Given the description of an element on the screen output the (x, y) to click on. 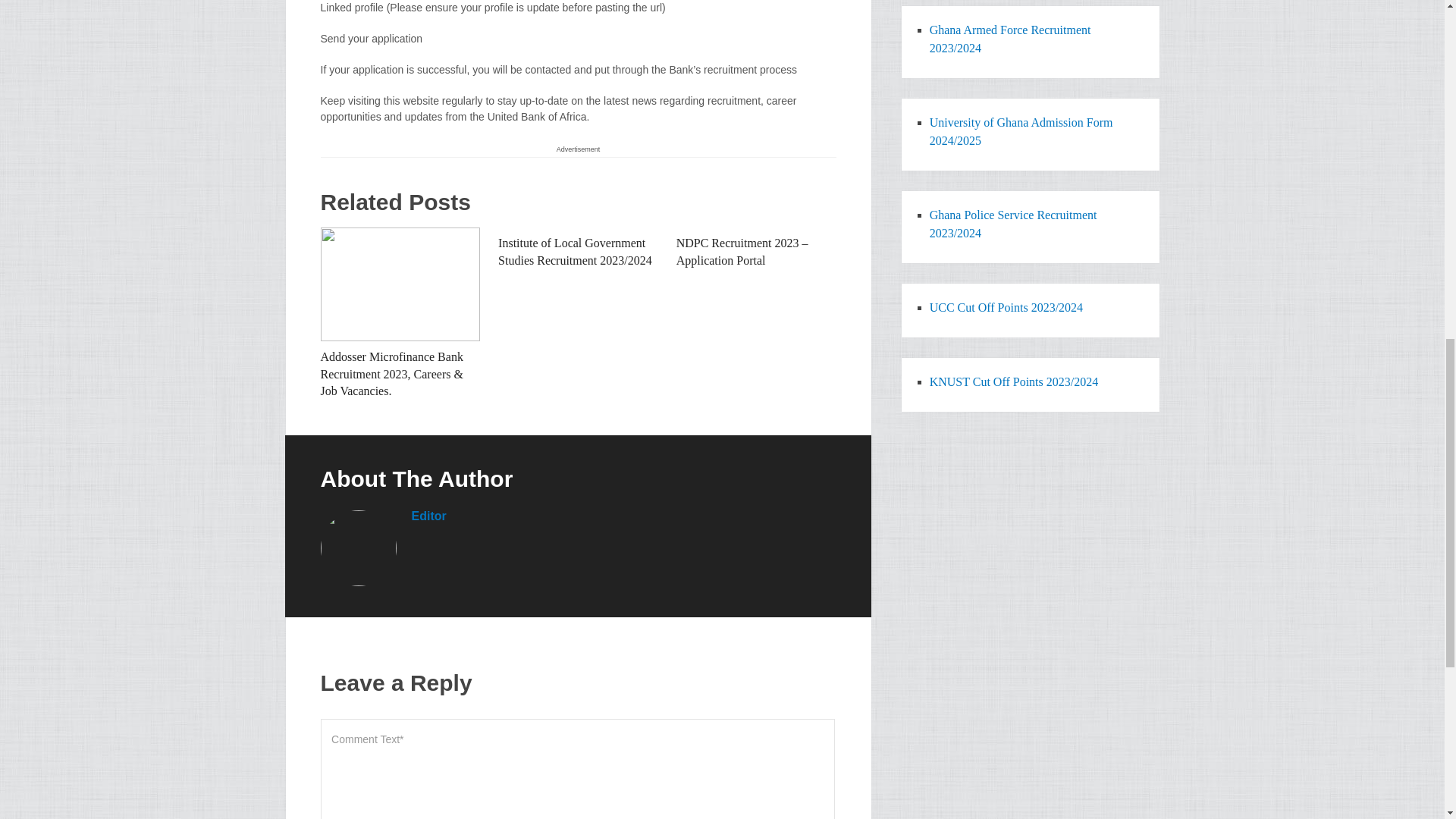
Editor (427, 515)
